Given the description of an element on the screen output the (x, y) to click on. 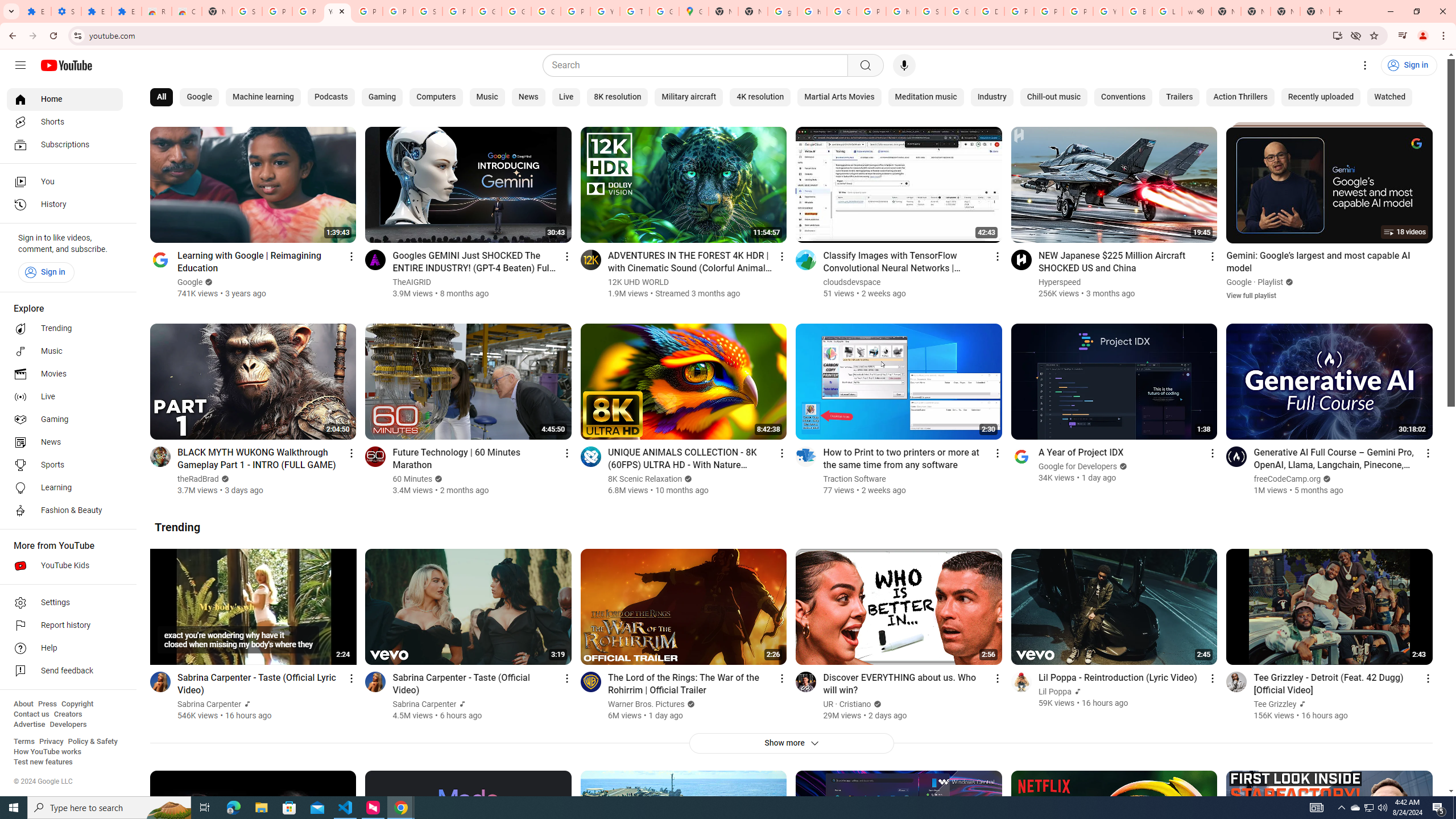
Developers (68, 724)
Settings (65, 11)
Search with your voice (903, 65)
View full playlist (1250, 294)
Chill-out music (1053, 97)
8K Scenic Relaxation (644, 478)
Chrome Web Store - Themes (185, 11)
YouTube (337, 11)
Trending (177, 526)
History (64, 204)
